Given the description of an element on the screen output the (x, y) to click on. 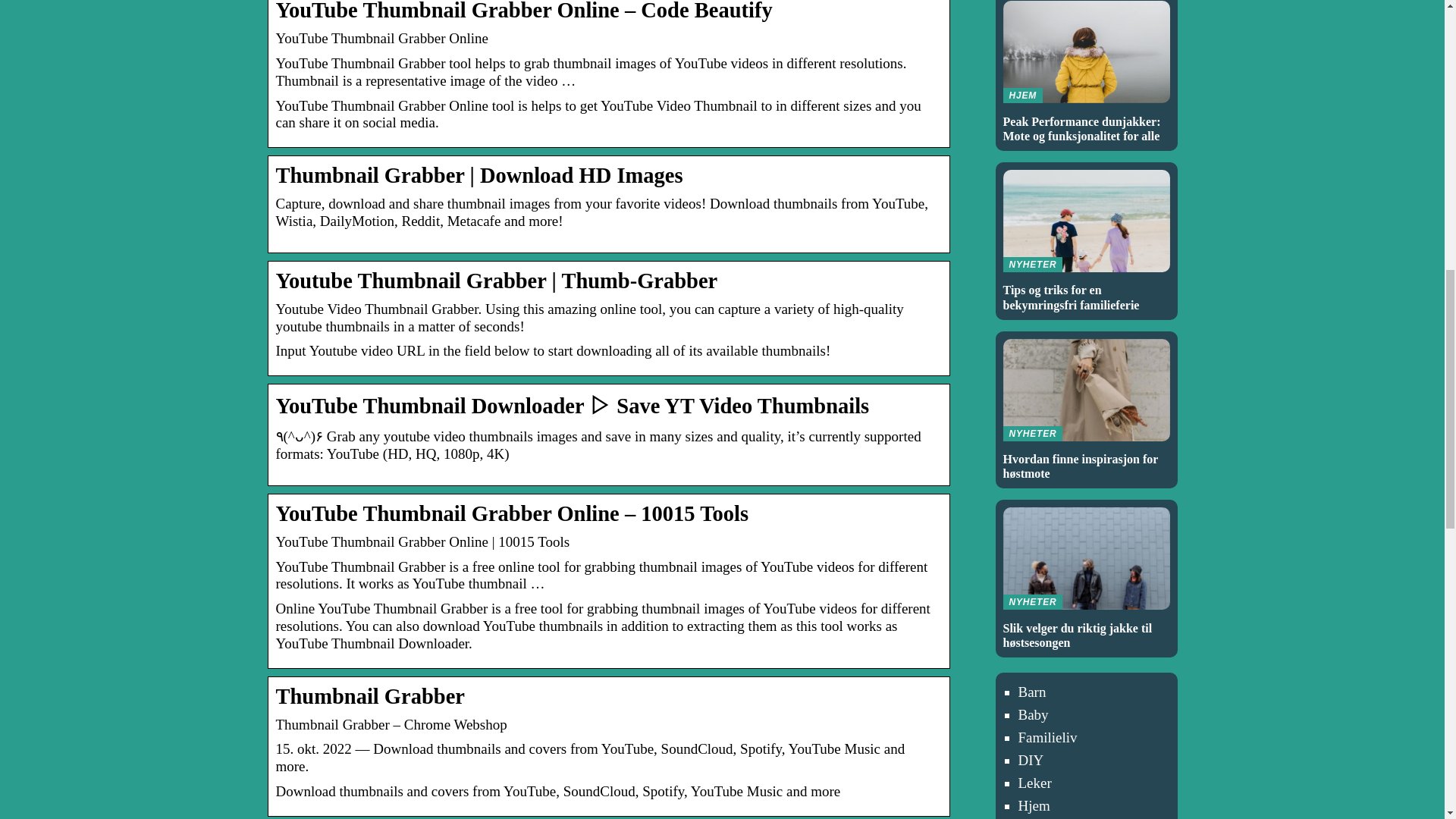
DIY (1030, 760)
Familieliv (1047, 737)
Leker (1034, 782)
Baby (1032, 714)
Hjem (1033, 805)
Barn (1086, 240)
